Given the description of an element on the screen output the (x, y) to click on. 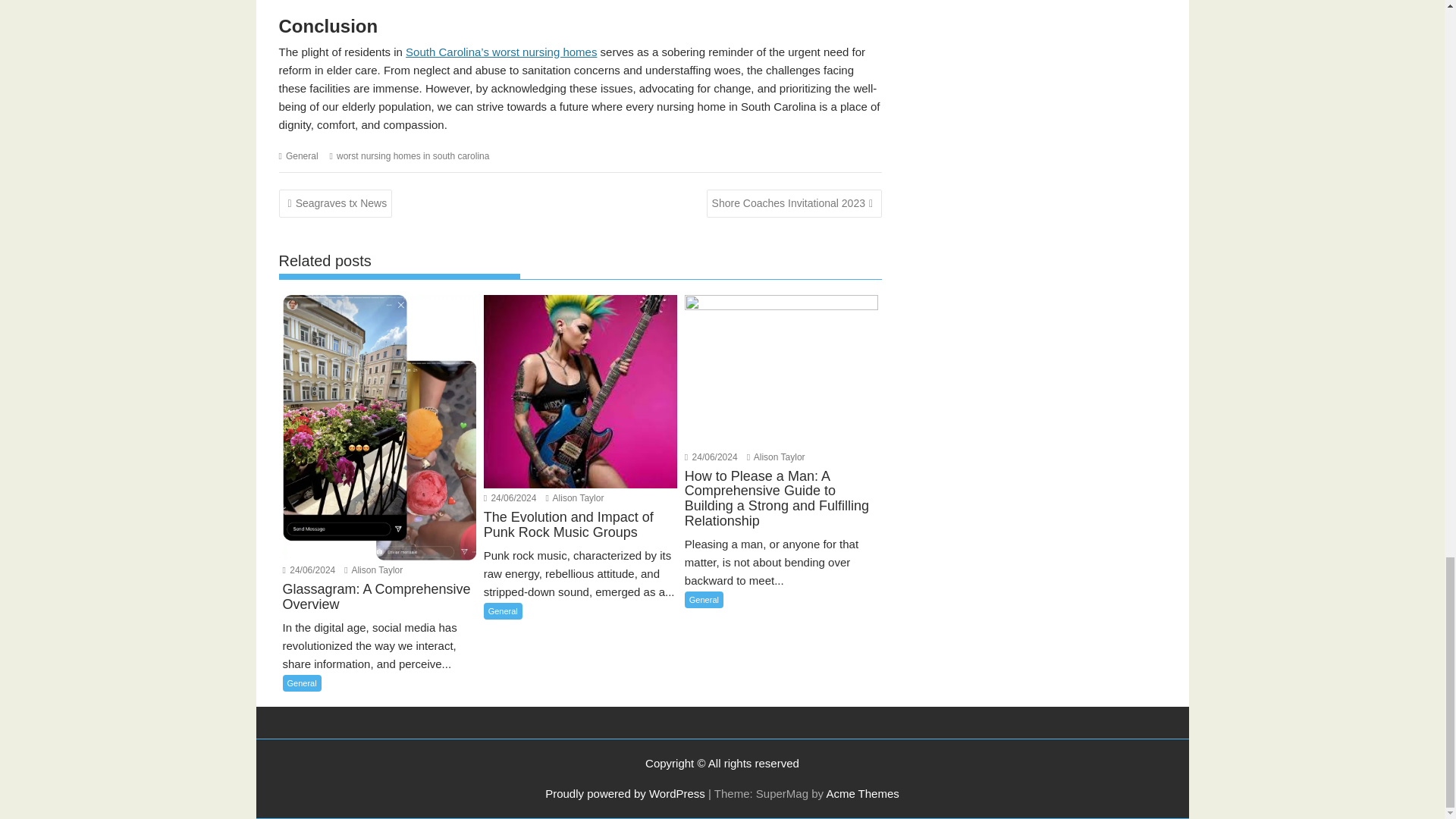
Alison Taylor (775, 457)
Alison Taylor (575, 498)
Alison Taylor (373, 570)
